Given the description of an element on the screen output the (x, y) to click on. 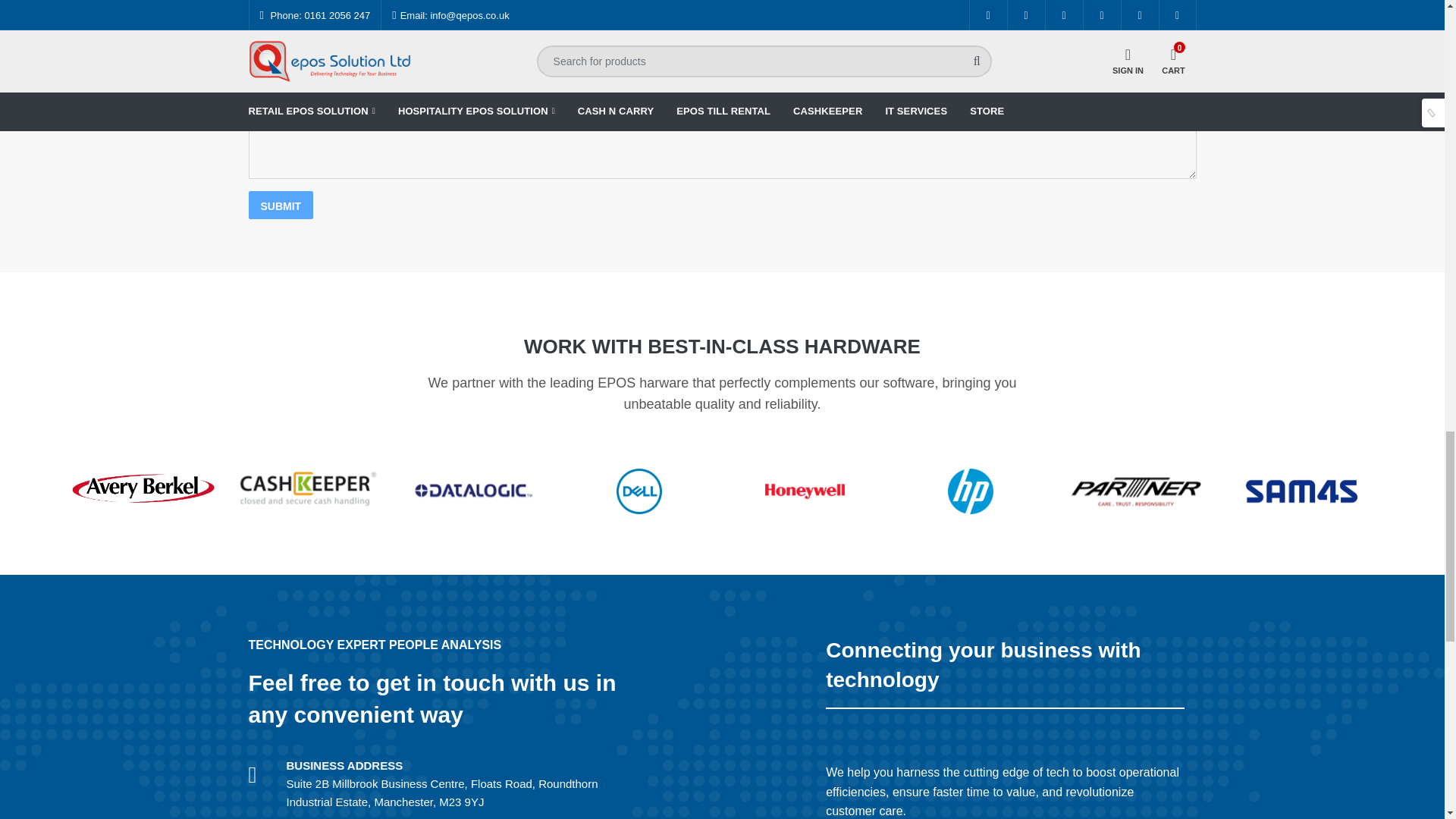
Submit (281, 204)
